Given the description of an element on the screen output the (x, y) to click on. 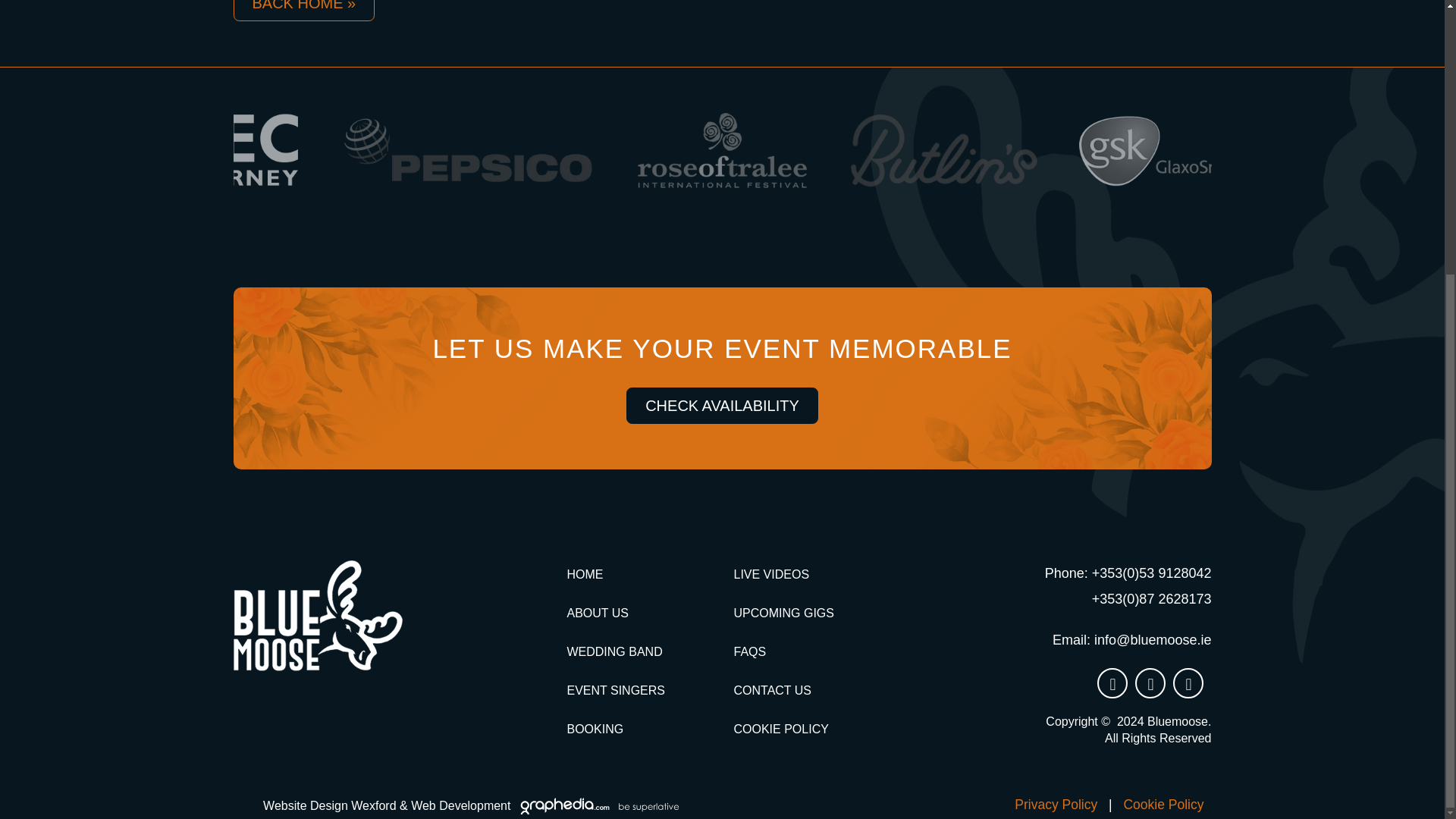
EVENT SINGERS (615, 689)
FAQS (749, 651)
youtube (1188, 683)
ABOUT US (597, 612)
CHECK AVAILABILITY (722, 405)
LIVE VIDEOS (771, 574)
CONTACT US (771, 689)
WEDDING BAND (614, 651)
UPCOMING GIGS (782, 612)
tiktok (1150, 683)
HOME (584, 574)
BOOKING (594, 728)
instagram (1111, 683)
COOKIE POLICY (780, 728)
